Given the description of an element on the screen output the (x, y) to click on. 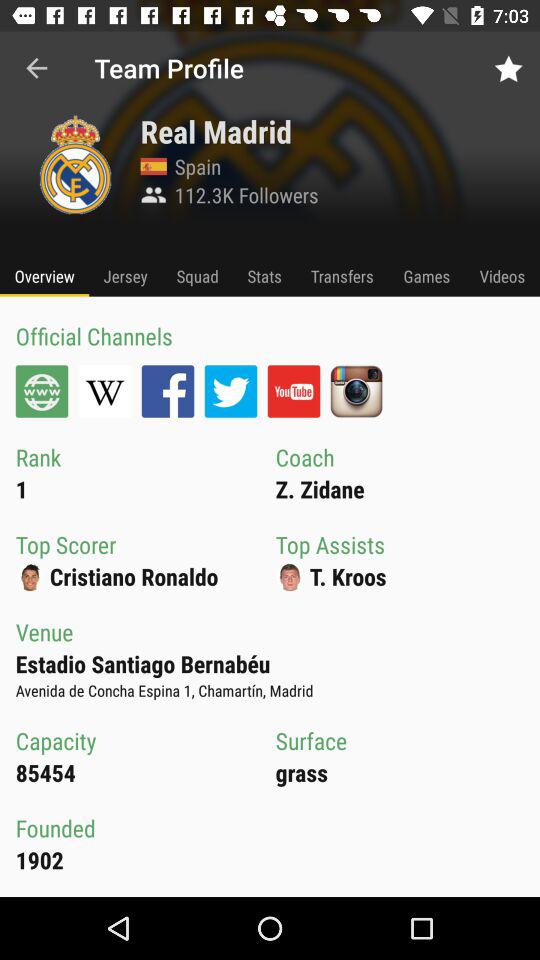
view instagram (356, 391)
